Given the description of an element on the screen output the (x, y) to click on. 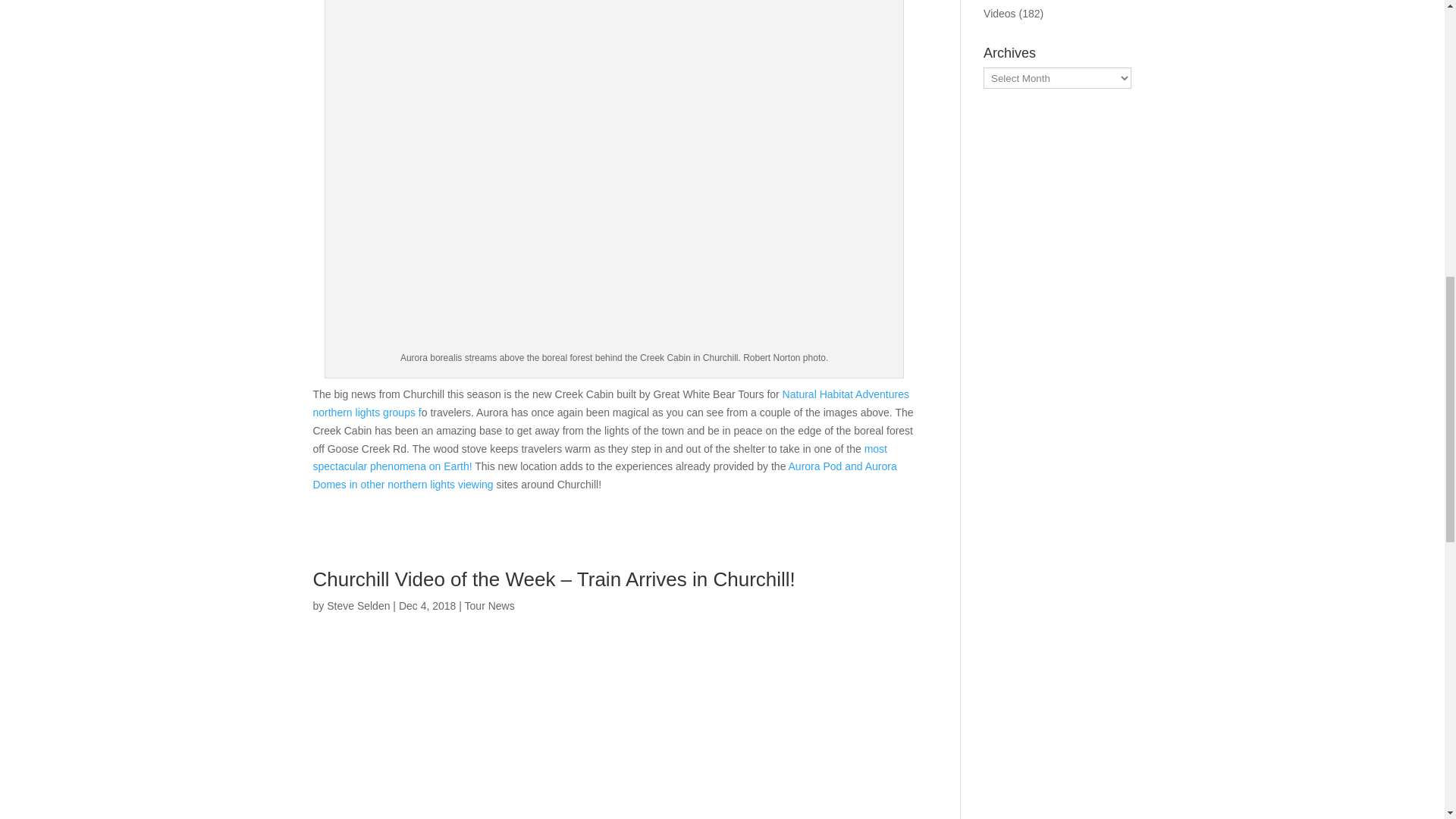
Posts by Steve Selden (358, 605)
